Given the description of an element on the screen output the (x, y) to click on. 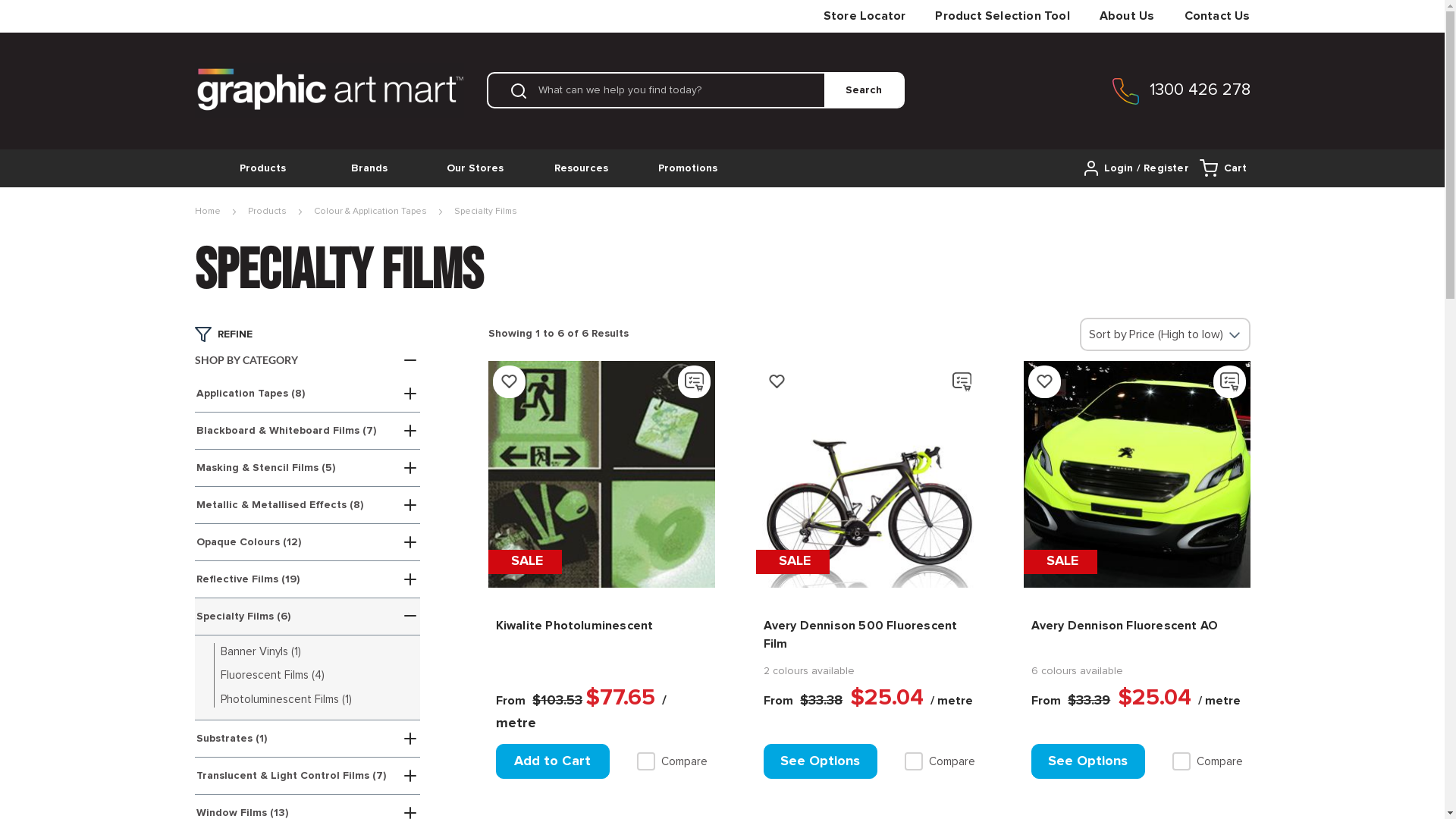
Colour & Application Tapes Element type: text (369, 211)
Avery Dennison Fluorescent AO Element type: text (1136, 632)
Avery Dennison Fluorescent AO Element type: hover (1136, 473)
Substrates (1) Element type: text (230, 738)
Kiwalite Photoluminescent Element type: text (601, 632)
Promotions Element type: text (686, 168)
Kiwalite Photoluminescent  Element type: hover (601, 473)
Compare Element type: text (672, 761)
Fluorescent Films (4) Element type: text (271, 674)
See Options Element type: text (1088, 760)
REFINE Element type: text (233, 334)
Products Element type: text (266, 211)
Brands Element type: text (368, 168)
Translucent & Light Control Films (7) Element type: text (290, 775)
Cart Element type: text (1222, 168)
Banner Vinyls (1) Element type: text (259, 651)
Blackboard & Whiteboard Films (7) Element type: text (285, 430)
Application Tapes (8) Element type: text (249, 393)
Reflective Films (19) Element type: text (246, 579)
Photoluminescent Films (1) Element type: text (285, 699)
Avery Dennison 500 Fluorescent Film Element type: hover (868, 473)
Add to Cart Element type: text (552, 760)
Opaque Colours (12) Element type: text (247, 541)
Search Element type: text (862, 89)
Product Selection Tool Element type: text (1002, 15)
Compare Element type: text (938, 761)
Specialty Films (6) Element type: text (242, 616)
Window Films (13) Element type: text (241, 812)
1300 426 278 Element type: text (1194, 90)
Sign In Element type: text (1137, 168)
About Us Element type: text (1126, 15)
Home Element type: text (206, 211)
Avery Dennison 500 Fluorescent Film Element type: text (868, 632)
Masking & Stencil Films (5) Element type: text (264, 467)
Products Element type: text (262, 168)
Store Locator Element type: text (864, 15)
Metallic & Metallised Effects (8) Element type: text (278, 504)
Contact Us Element type: text (1217, 15)
Our Stores Element type: text (474, 168)
See Options Element type: text (819, 760)
Compare Element type: text (1207, 761)
Resources Element type: text (580, 168)
